Given the description of an element on the screen output the (x, y) to click on. 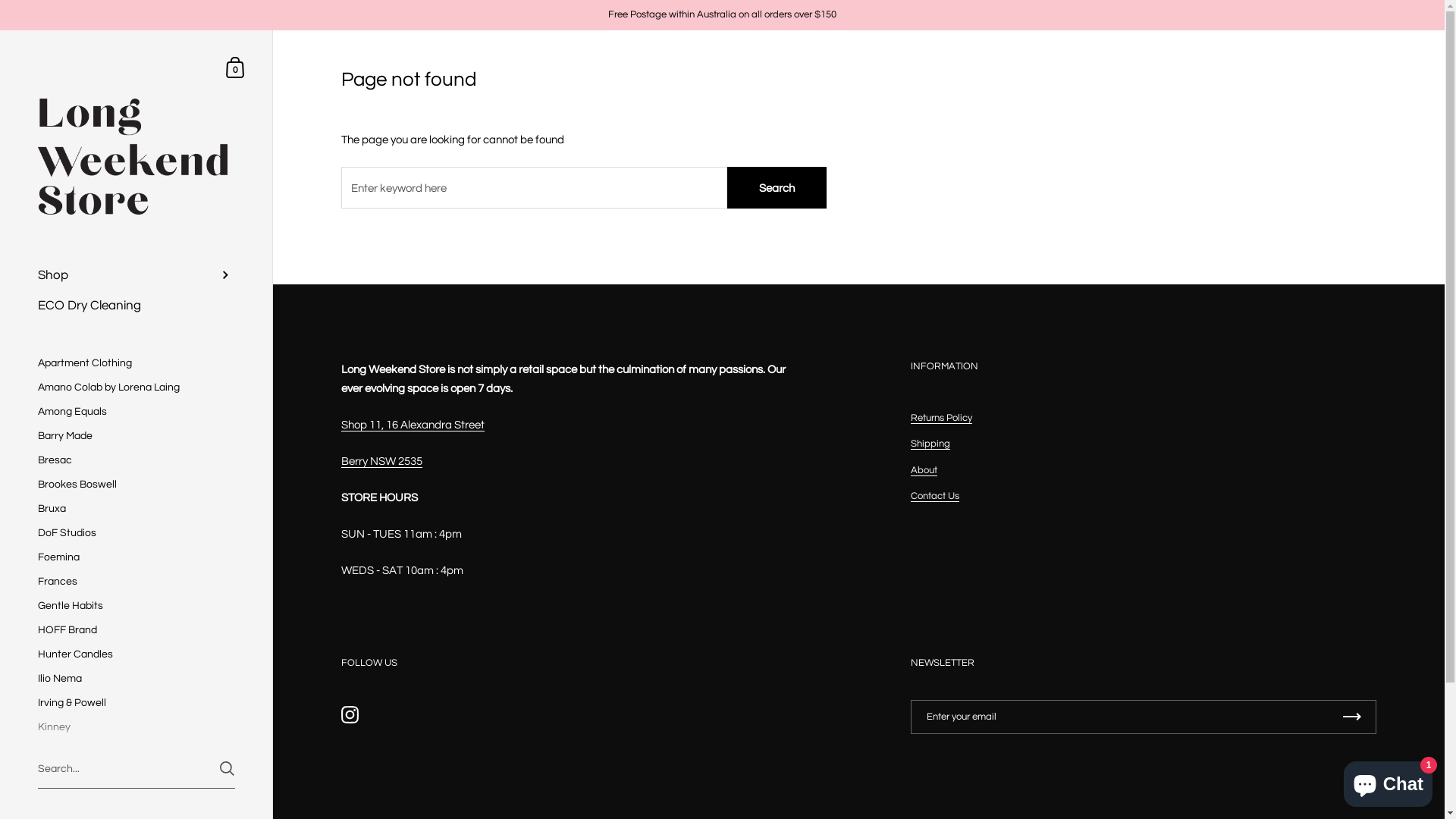
Shop 11, 16 Alexandra Street Element type: text (412, 425)
Kinney Element type: text (136, 727)
About Element type: text (923, 470)
Among Equals Element type: text (136, 411)
Shop Element type: text (136, 275)
DoF Studios Element type: text (136, 532)
Frances Element type: text (136, 581)
Brookes Boswell Element type: text (136, 484)
Berry NSW 2535 Element type: text (381, 461)
Returns Policy Element type: text (941, 417)
Shopping Cart
0 Element type: text (235, 66)
Lateral Objects Element type: text (136, 751)
Gentle Habits Element type: text (136, 605)
Apartment Clothing Element type: text (136, 363)
Ilio Nema Element type: text (136, 678)
Irving & Powell Element type: text (136, 702)
Foemina Element type: text (136, 557)
Skip to content Element type: text (0, 30)
Bruxa Element type: text (136, 508)
Instagram Element type: text (349, 714)
Luna Gallery Element type: text (136, 799)
Shopify online store chat Element type: hover (1388, 780)
Bresac Element type: text (136, 460)
HOFF Brand Element type: text (136, 630)
Hunter Candles Element type: text (136, 654)
Shipping Element type: text (930, 443)
Contact Us Element type: text (934, 496)
Lorna Murray Element type: text (136, 775)
Amano Colab by Lorena Laing Element type: text (136, 387)
Barry Made Element type: text (136, 435)
Search Element type: text (776, 187)
ECO Dry Cleaning Element type: text (136, 305)
